Given the description of an element on the screen output the (x, y) to click on. 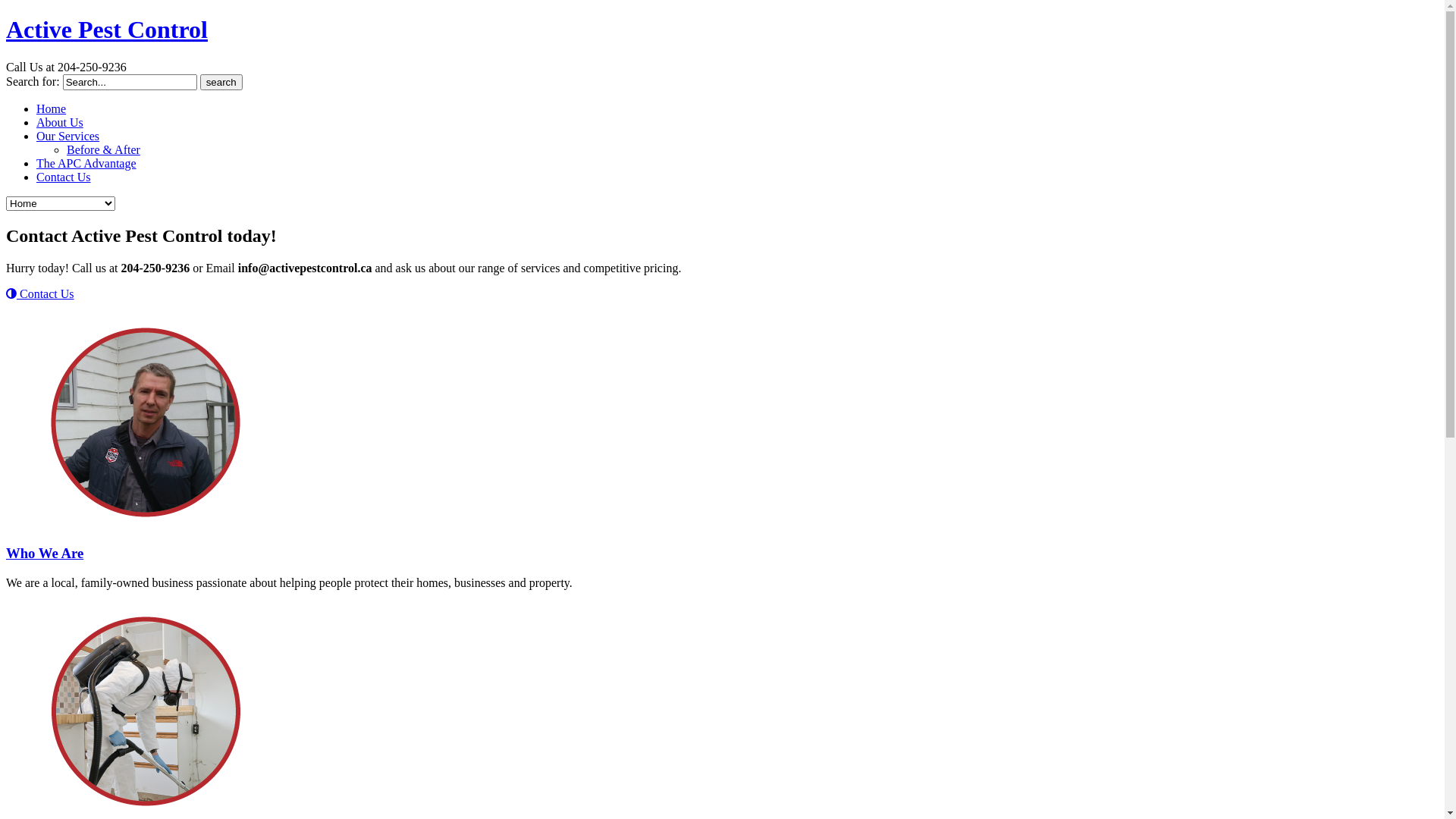
search Element type: text (221, 82)
About Us Element type: text (59, 122)
Circles-01 Element type: hover (145, 422)
Before & After Element type: text (103, 149)
Contact Us Element type: text (63, 176)
Our Services Element type: text (67, 135)
Home Element type: text (50, 108)
Who We Are Element type: text (44, 553)
Active Pest Control Element type: text (106, 29)
Contact Us Element type: text (40, 293)
The APC Advantage Element type: text (86, 162)
